Given the description of an element on the screen output the (x, y) to click on. 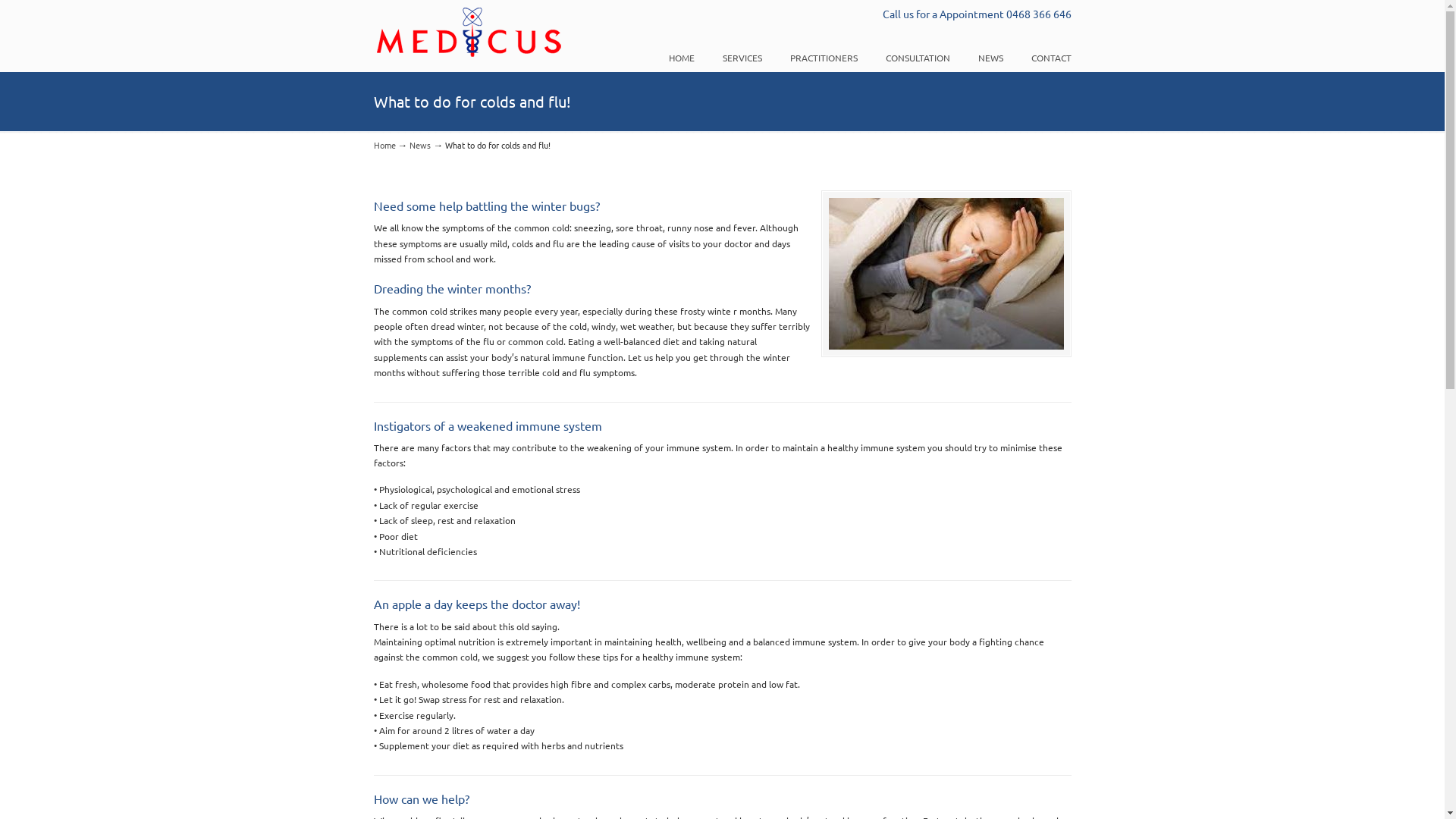
PRACTITIONERS Element type: text (823, 57)
SERVICES Element type: text (741, 57)
Home Element type: text (384, 144)
CONTACT Element type: text (1051, 57)
HOME Element type: text (681, 57)
News Element type: text (419, 144)
CONSULTATION Element type: text (917, 57)
Medicus Element type: text (467, 31)
NEWS Element type: text (990, 57)
